Given the description of an element on the screen output the (x, y) to click on. 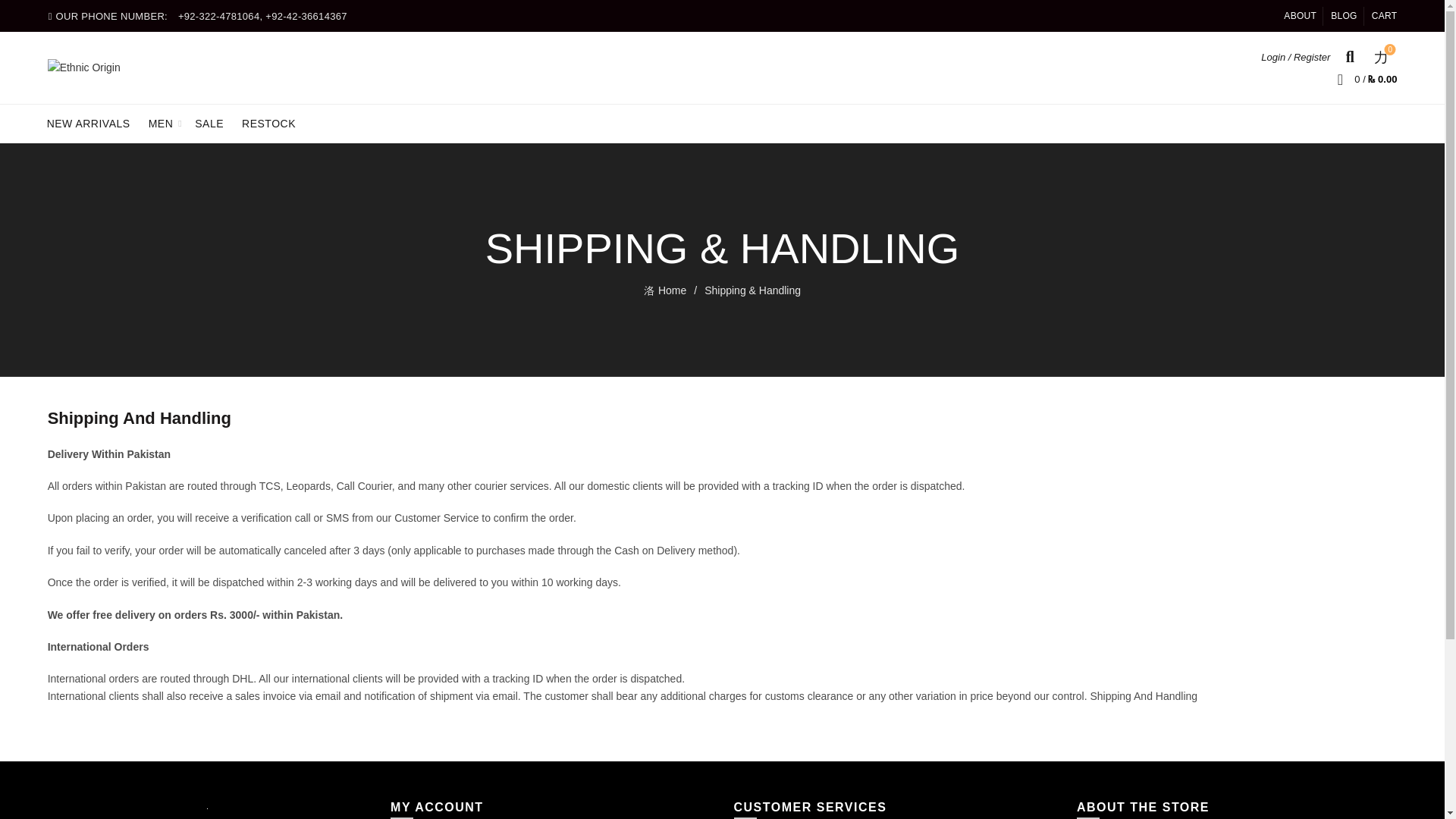
RESTOCK (268, 123)
ABOUT (1300, 15)
Search (1326, 98)
MEN (1380, 56)
Home (160, 123)
SALE (673, 290)
NEW ARRIVALS (208, 123)
CART (88, 123)
